Given the description of an element on the screen output the (x, y) to click on. 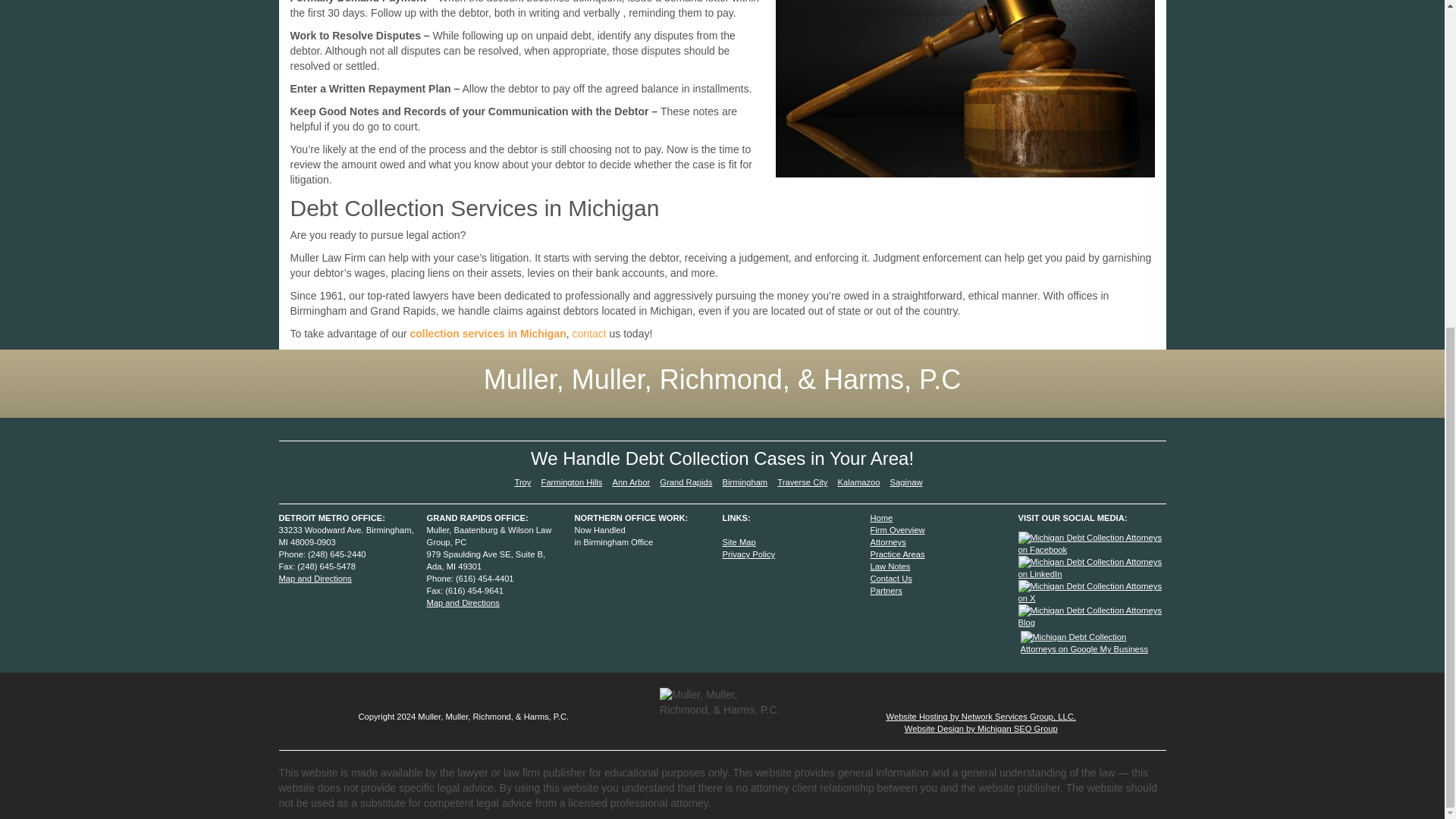
Map and Directions (315, 578)
Contact Us (891, 578)
Map and Directions (462, 602)
contact (588, 333)
Grand Rapids (685, 481)
Troy (522, 481)
Website Hosting by Network Services Group, LLC. (980, 716)
Attorneys (887, 542)
Kalamazoo (859, 481)
Partners (886, 590)
Ann Arbor (630, 481)
Firm Overview (897, 529)
Privacy Policy (748, 553)
Practice Areas (897, 553)
collection services in Michigan (487, 333)
